Given the description of an element on the screen output the (x, y) to click on. 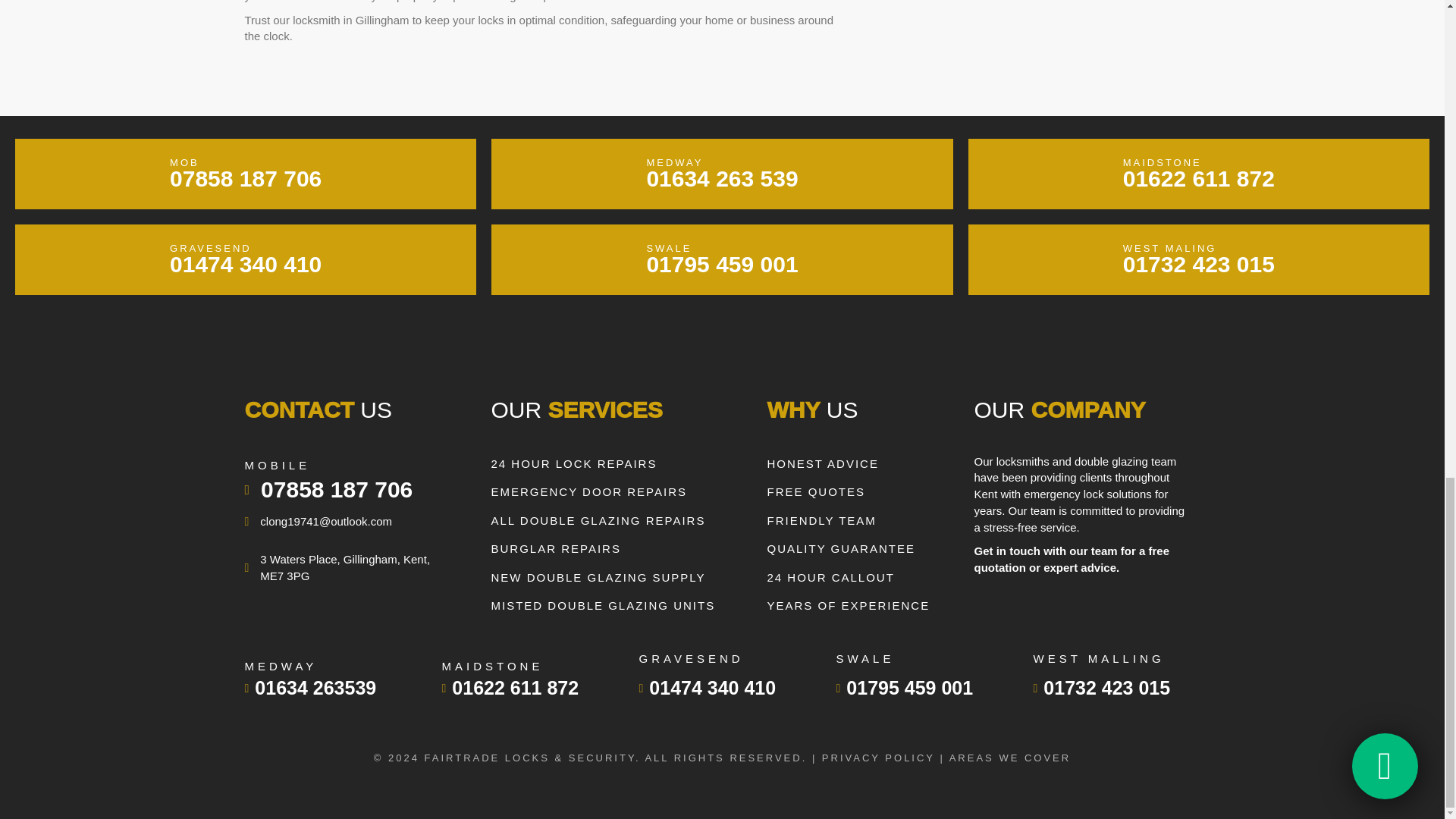
01622 611 872 (722, 259)
01634 263539 (1198, 259)
07858 187 706 (514, 687)
